Given the description of an element on the screen output the (x, y) to click on. 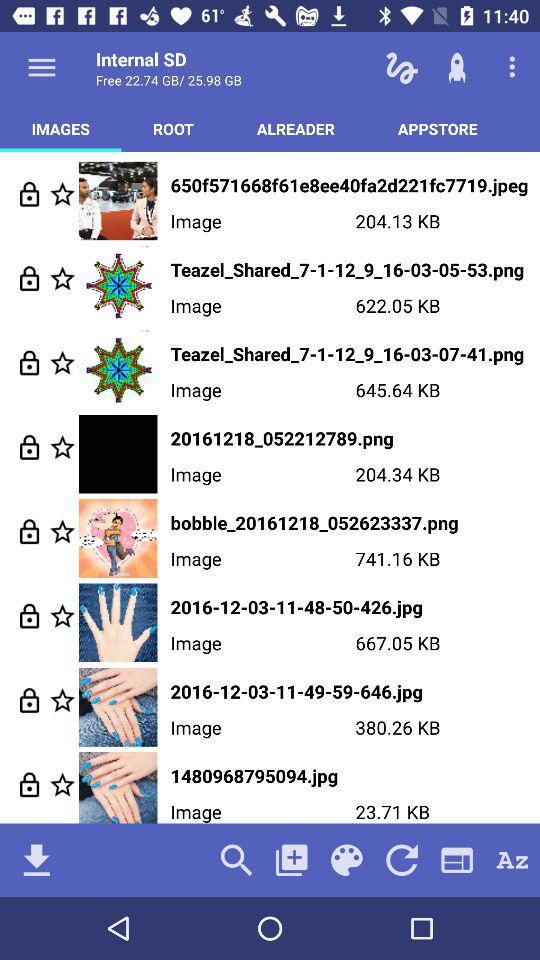
open menu (42, 67)
